Given the description of an element on the screen output the (x, y) to click on. 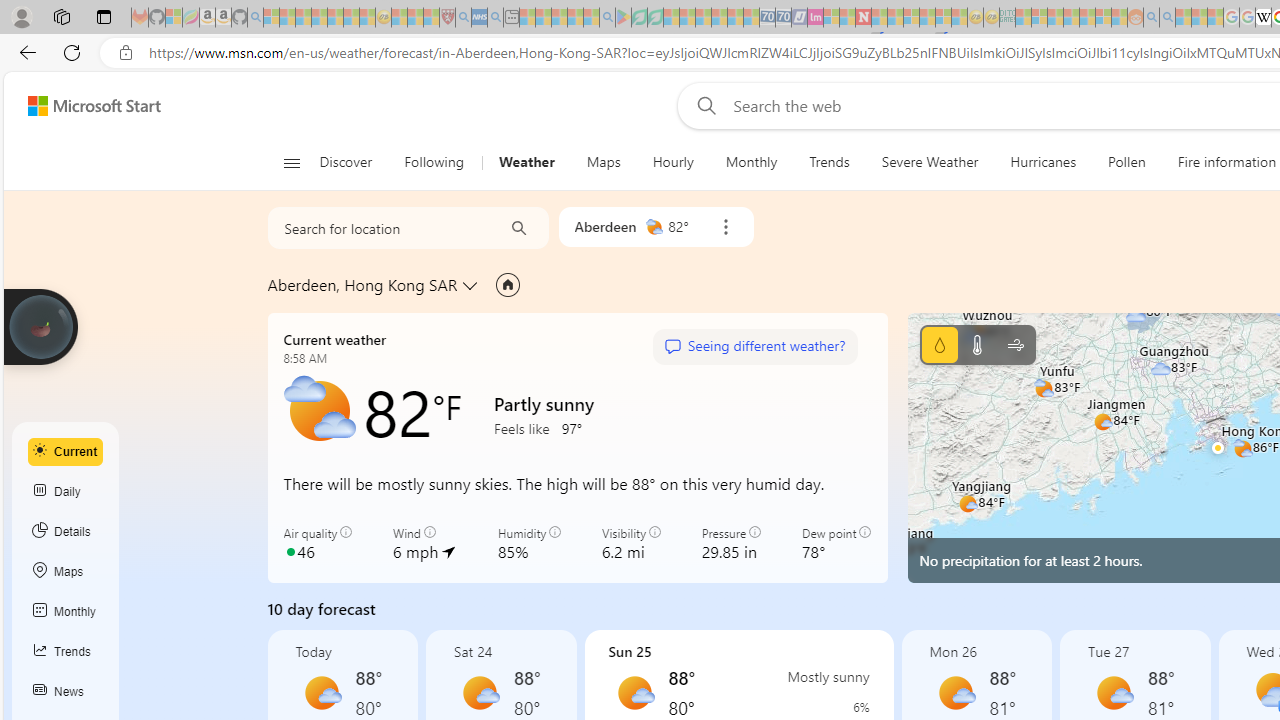
Hurricanes (1042, 162)
Jobs - lastminute.com Investor Portal - Sleeping (815, 17)
Trends (828, 162)
Visibility 6.2 mi (630, 543)
google - Search - Sleeping (607, 17)
Target page - Wikipedia (1263, 17)
